Given the description of an element on the screen output the (x, y) to click on. 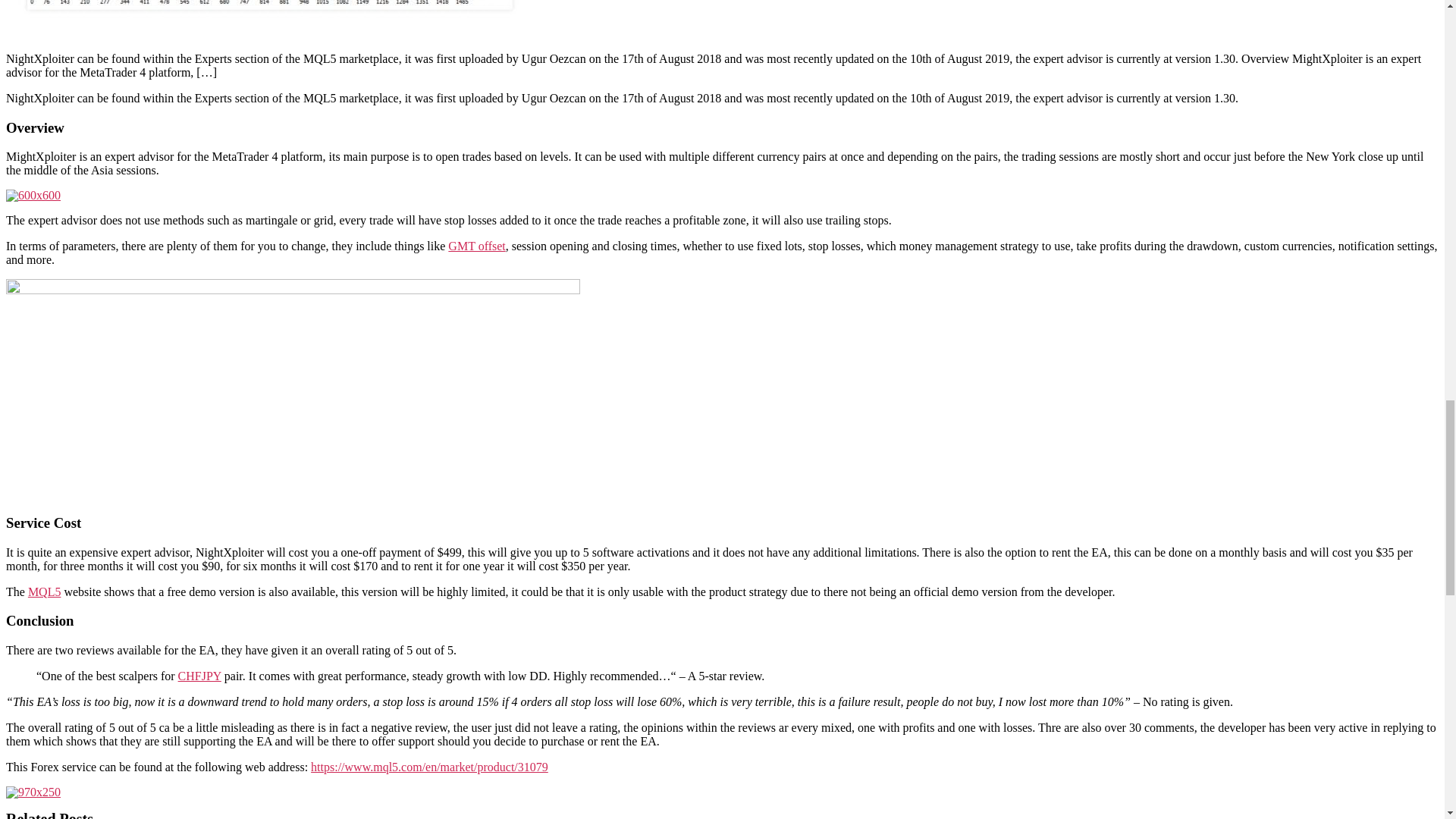
CHFJPY (199, 675)
MQL5 (44, 591)
GMT offset (476, 245)
